Given the description of an element on the screen output the (x, y) to click on. 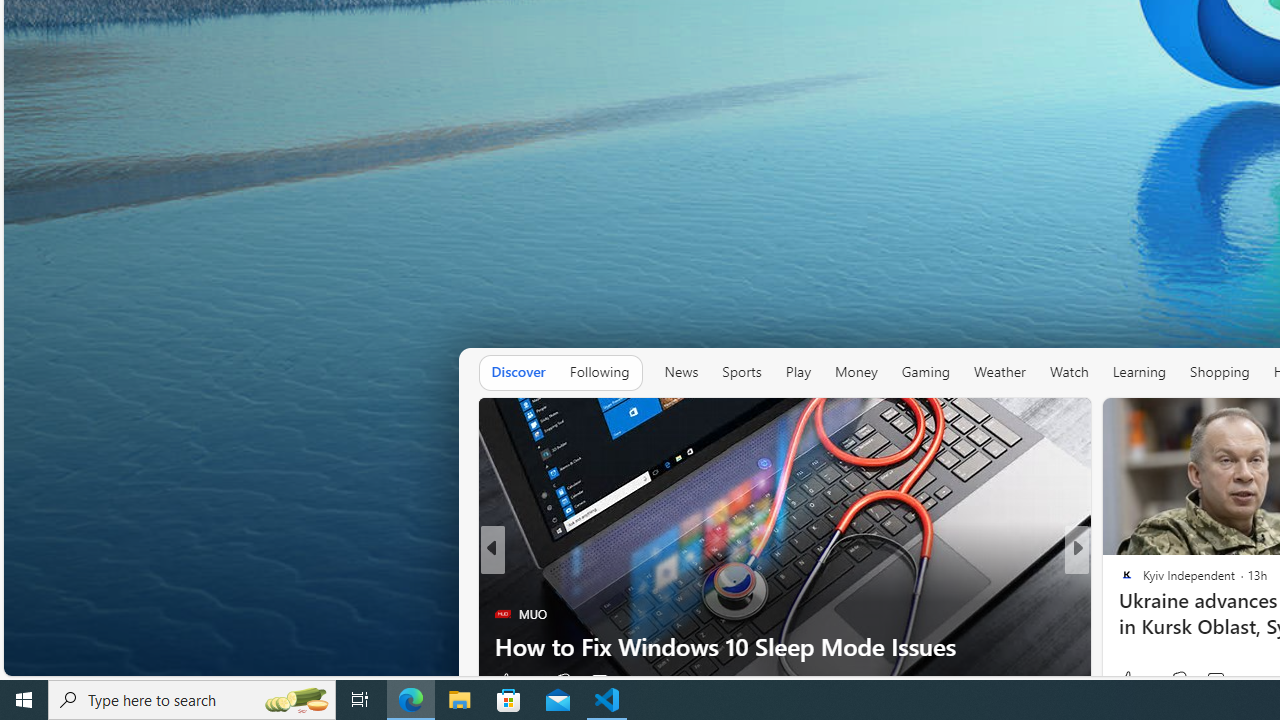
557 Like (1132, 681)
View comments 2 Comment (605, 681)
Play (798, 372)
View comments 1 Comment (1220, 680)
118 Like (516, 681)
Simply Recipes (1117, 581)
View comments 2 Comment (599, 681)
168 Like (1132, 681)
Ansa (1117, 581)
